Given the description of an element on the screen output the (x, y) to click on. 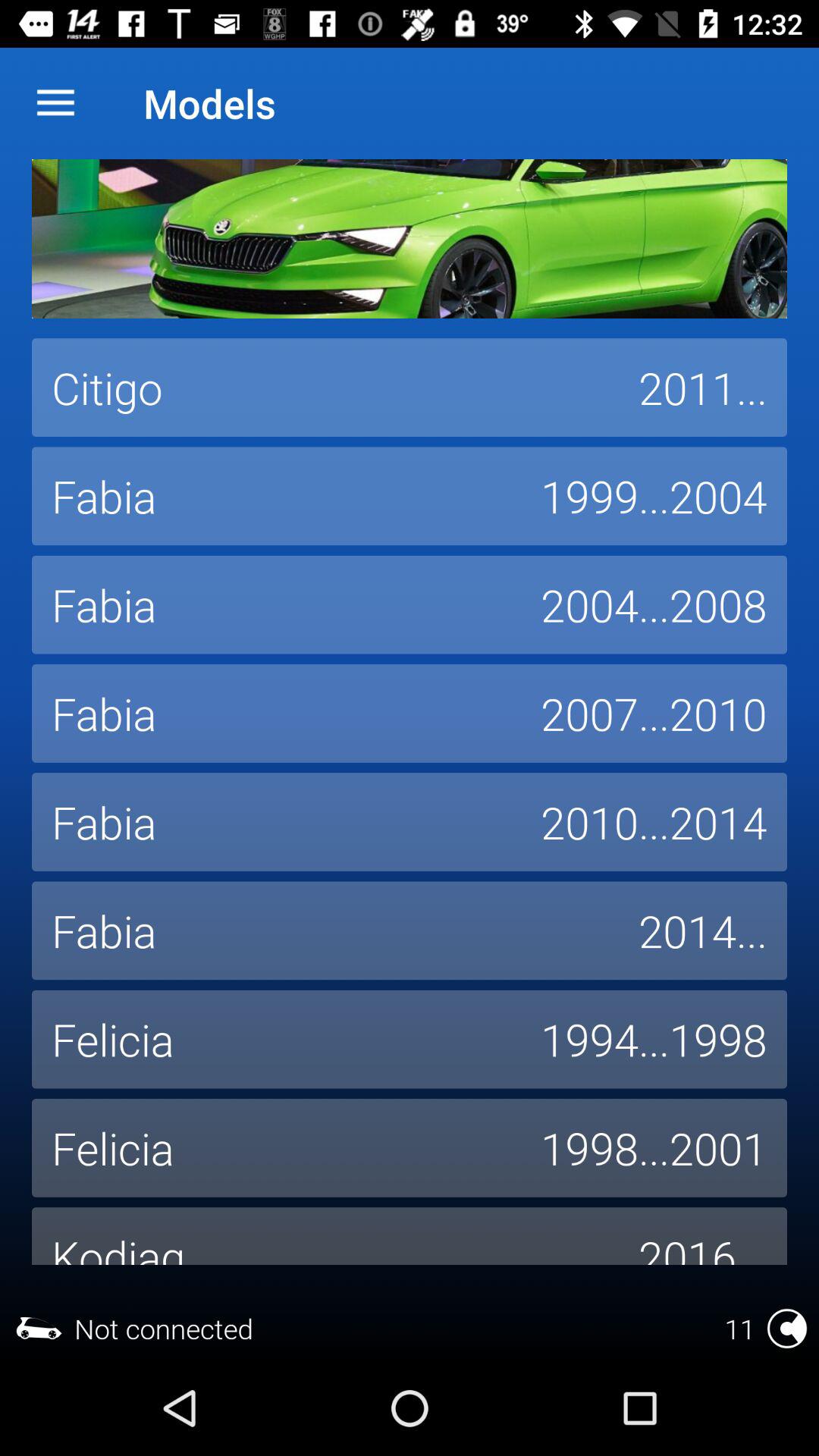
choose the 2011... (702, 387)
